Given the description of an element on the screen output the (x, y) to click on. 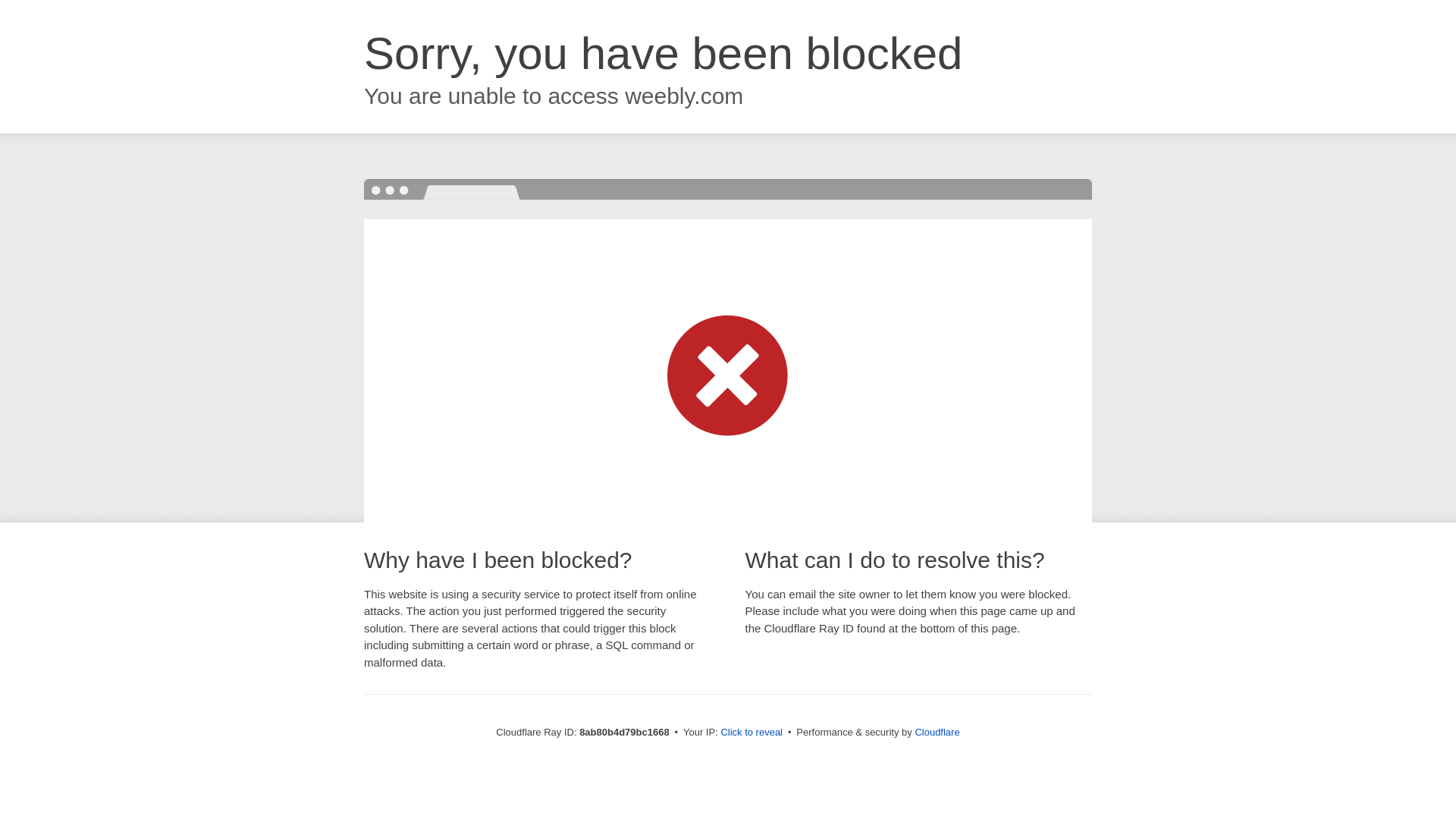
Click to reveal (751, 732)
Cloudflare (936, 731)
